Given the description of an element on the screen output the (x, y) to click on. 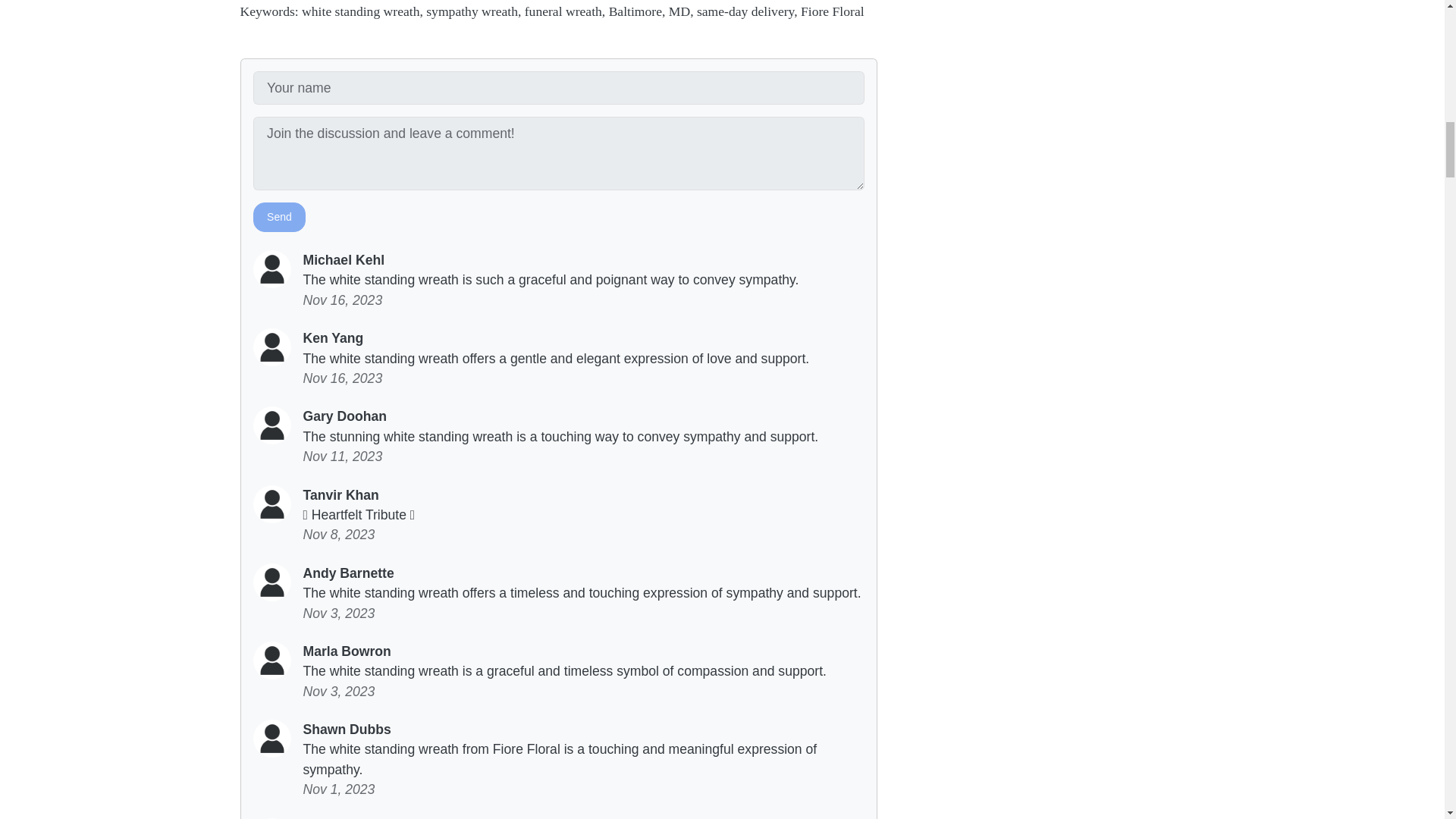
Send (279, 216)
Send (279, 216)
